Given the description of an element on the screen output the (x, y) to click on. 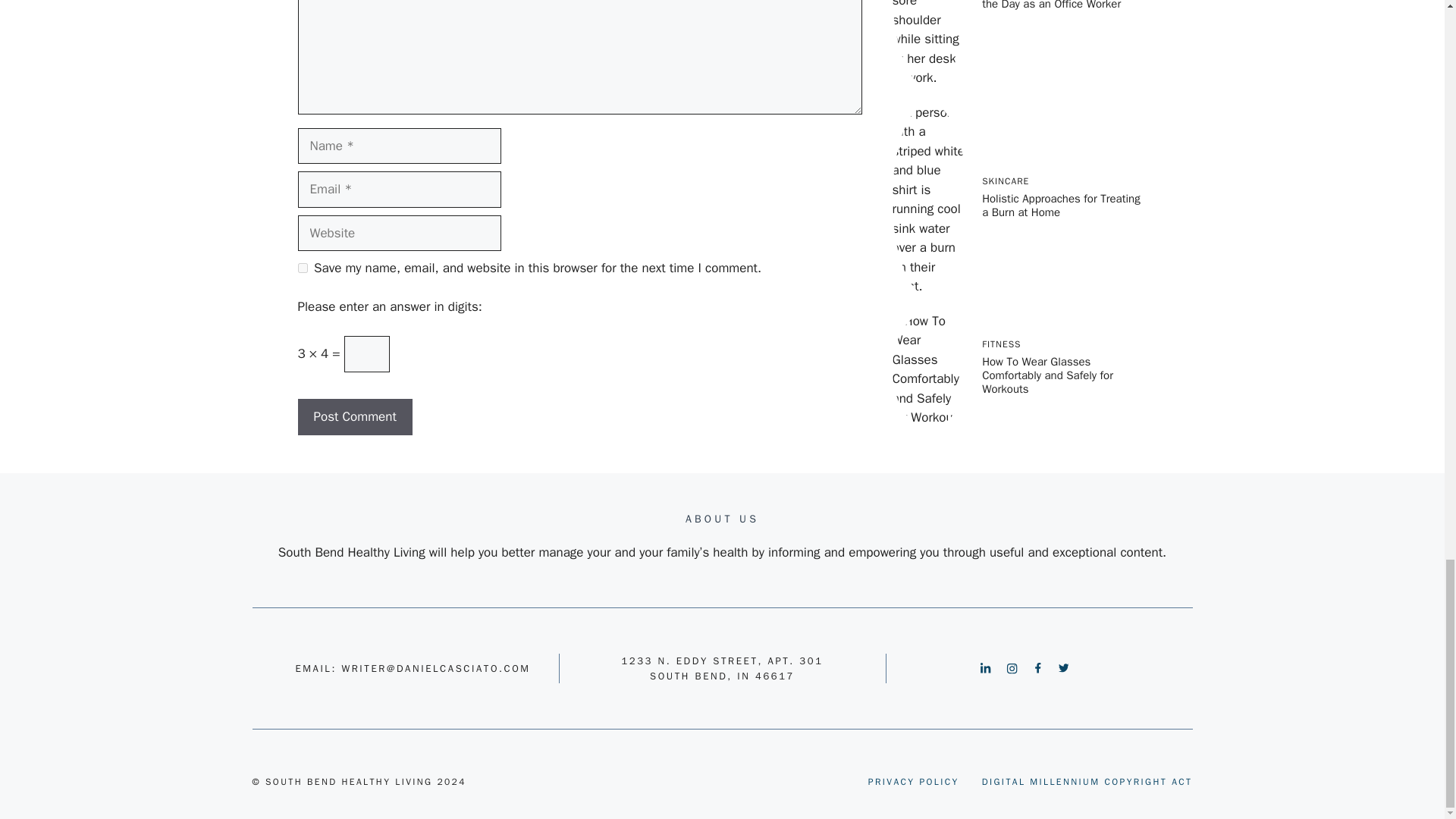
Post Comment (354, 416)
Post Comment (354, 416)
yes (302, 267)
